Given the description of an element on the screen output the (x, y) to click on. 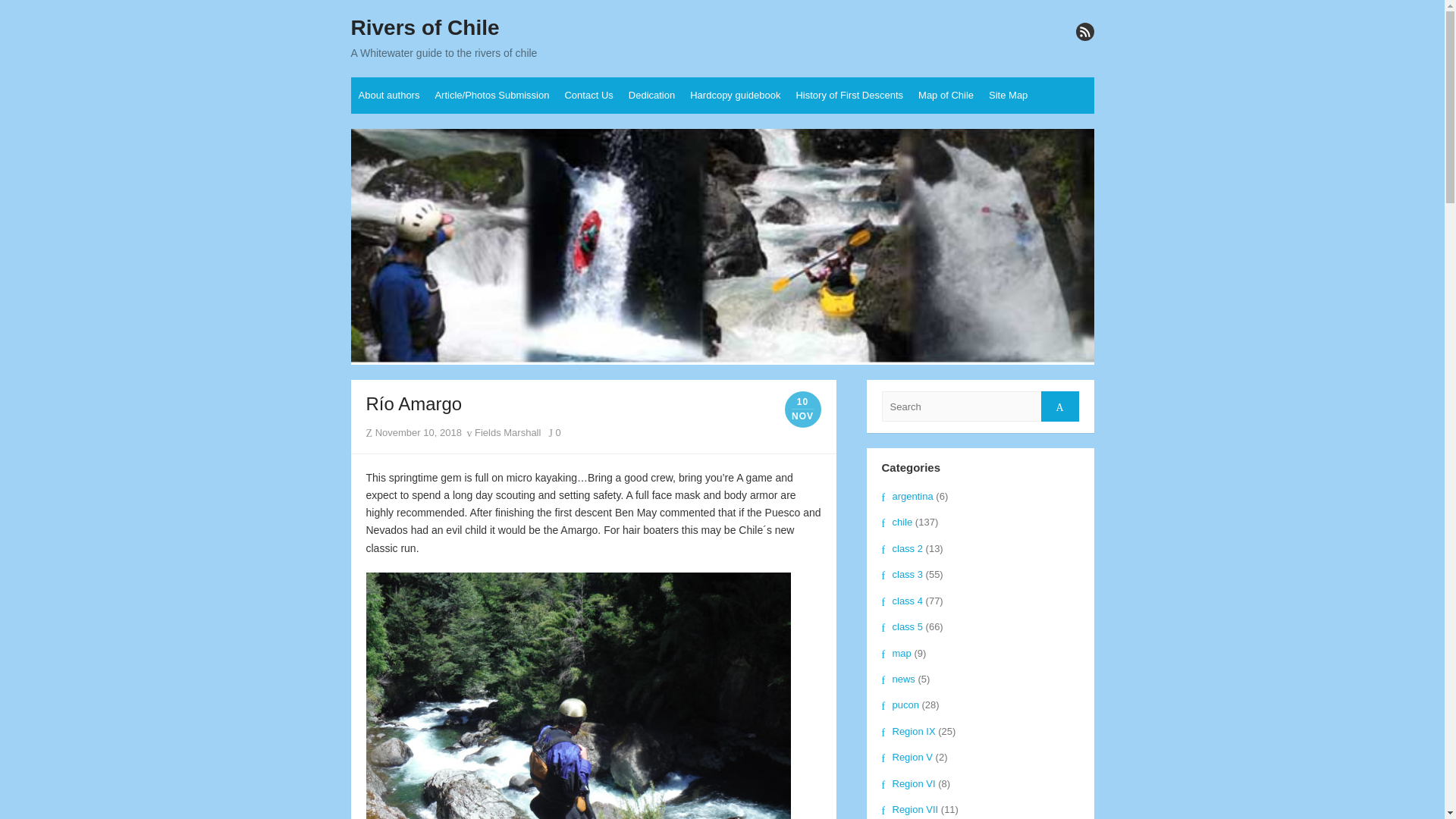
Rivers of Chile (424, 27)
class 5 (900, 626)
class 4 (900, 600)
chile (896, 521)
argentina (906, 496)
class 3 (900, 573)
Fields Marshall (502, 432)
November 10, 2018 (418, 432)
Map of Chile (946, 94)
map (895, 653)
